Given the description of an element on the screen output the (x, y) to click on. 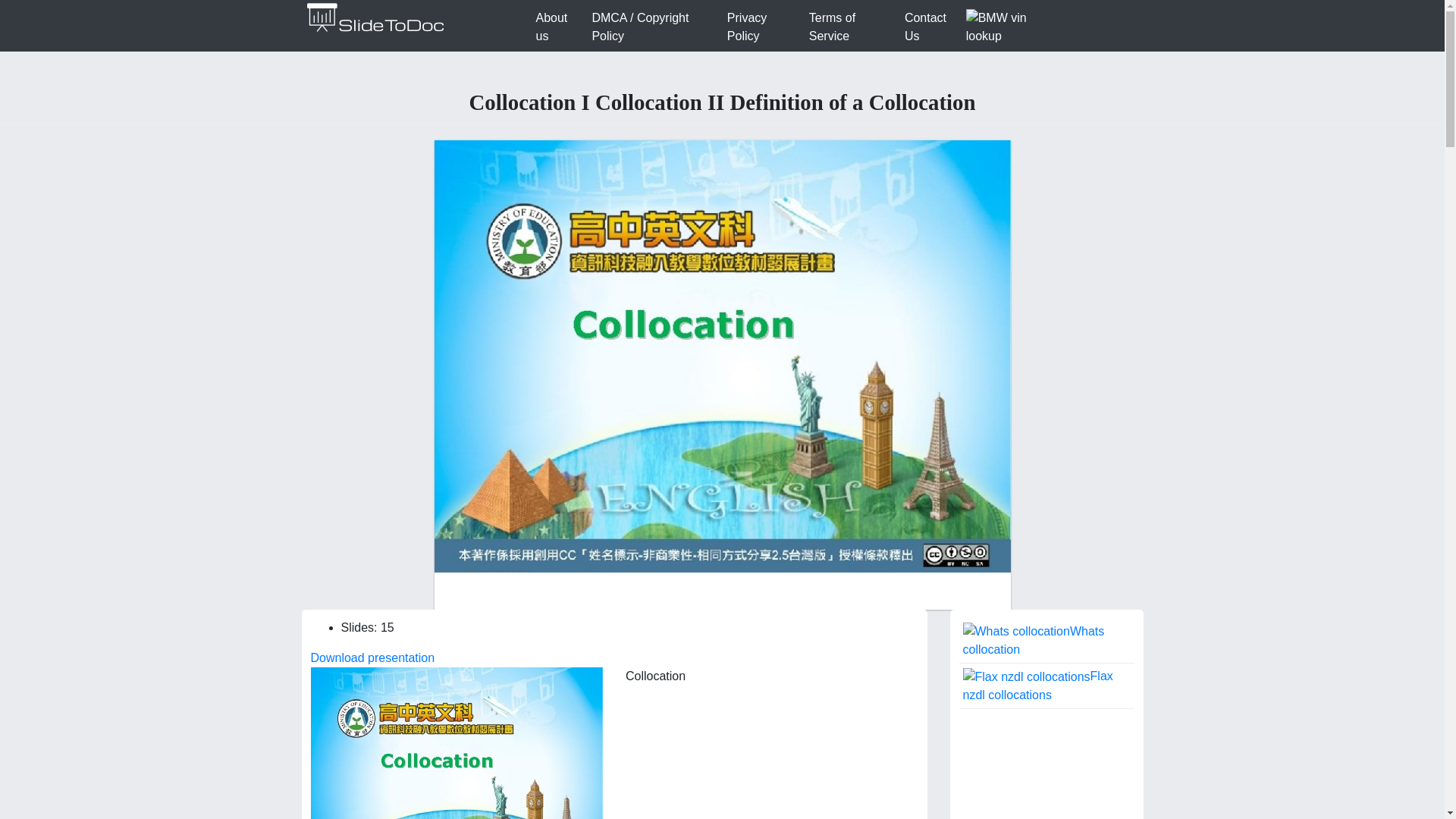
Whats collocation (1046, 641)
Contact Us (932, 27)
Collocation  (456, 743)
BMW vin lookup (1012, 27)
Terms of Service (850, 27)
Download presentation (373, 657)
About us (557, 27)
Collocation meaning (1046, 764)
Download presentation (373, 657)
